Given the description of an element on the screen output the (x, y) to click on. 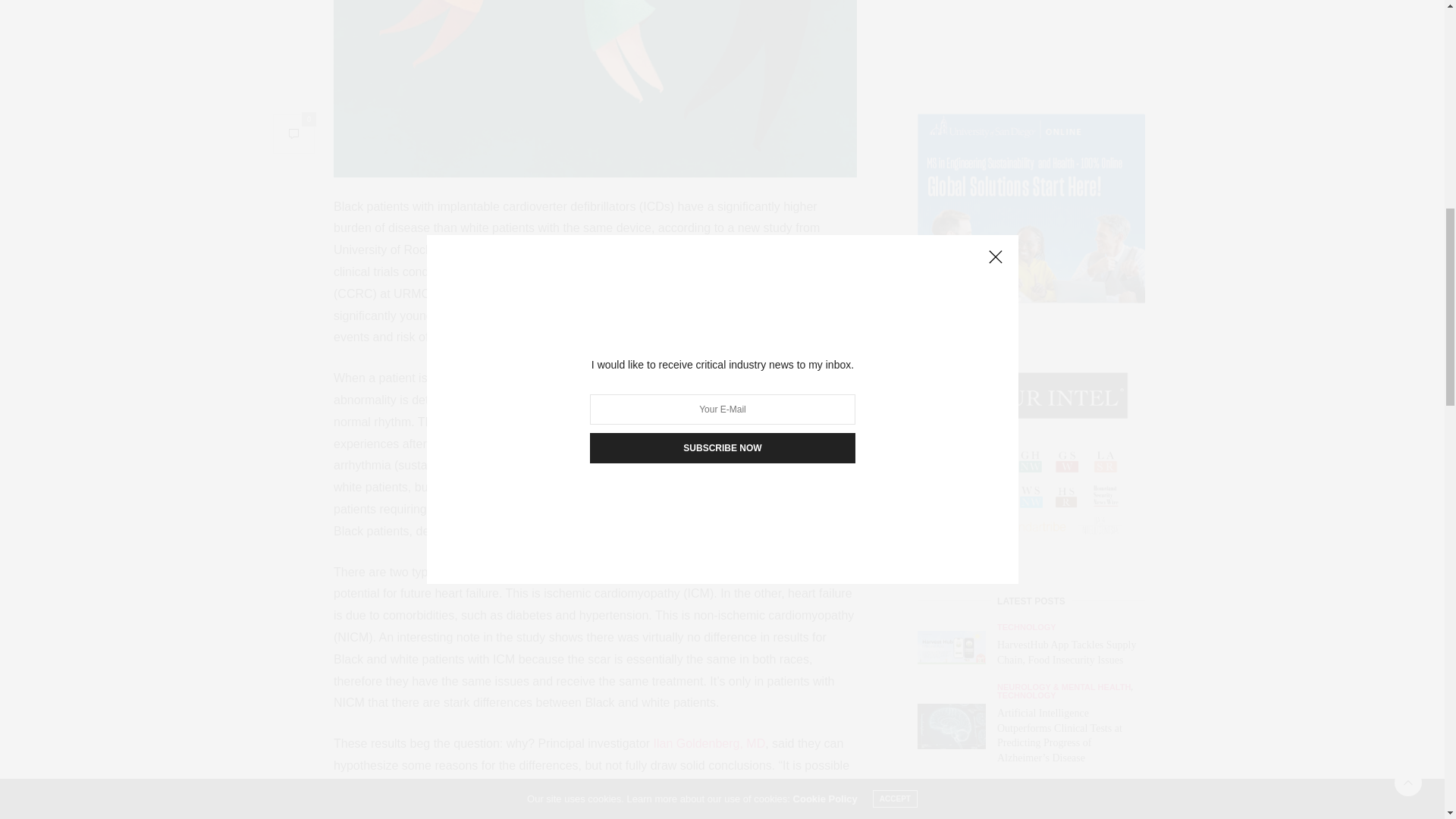
Ilan Goldenberg, MD (709, 743)
HarvestHub App Tackles Supply Chain, Food Insecurity Issues (951, 2)
HarvestHub App Tackles Supply Chain, Food Insecurity Issues (1066, 3)
Auto Draft (951, 361)
HarvestHub App Tackles Supply Chain, Food Insecurity Issues (957, 2)
SUBSCRIBE (1030, 569)
published in Circulation (539, 421)
